Given the description of an element on the screen output the (x, y) to click on. 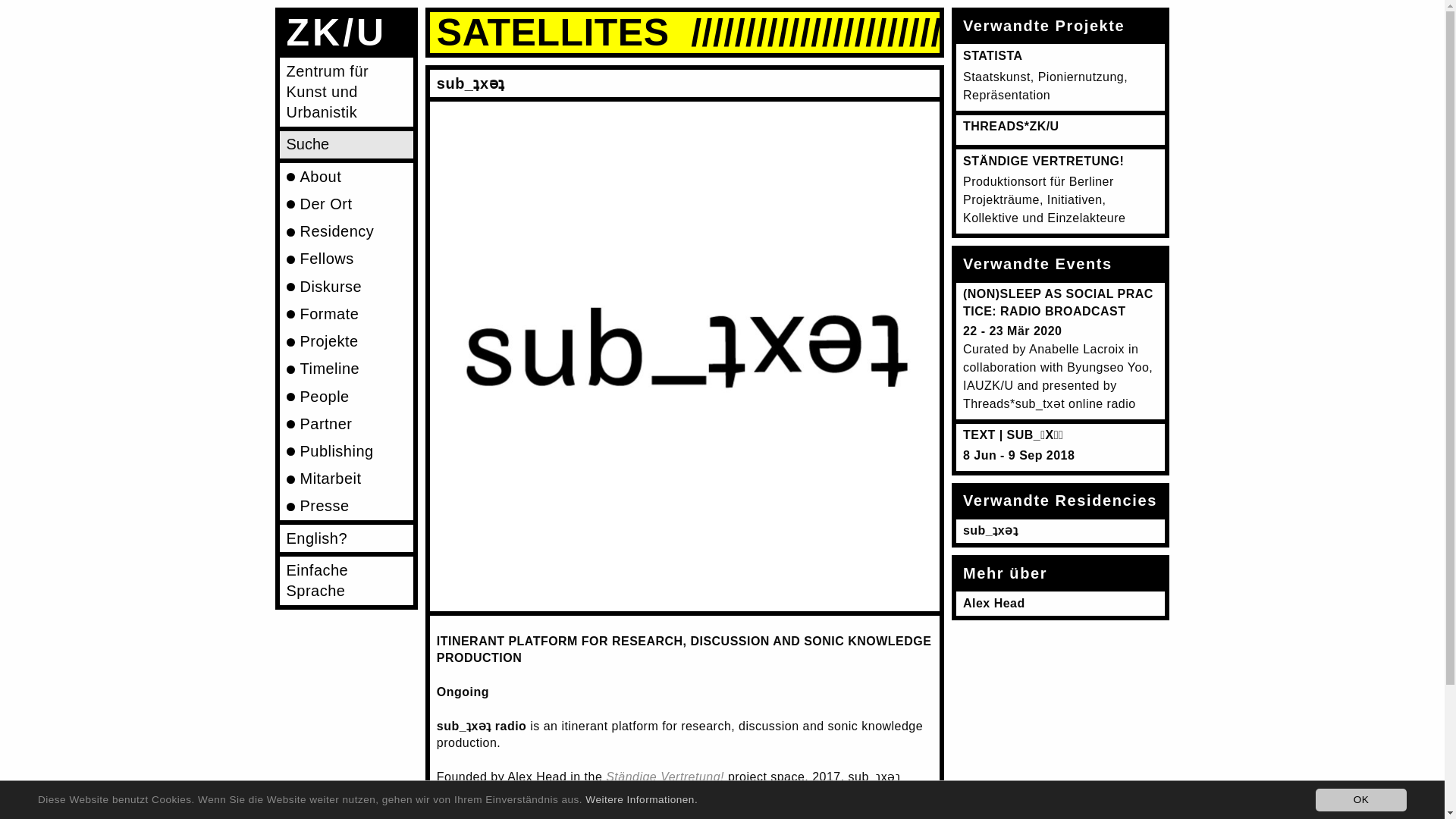
Der Ort (345, 203)
About (345, 176)
Presse (345, 506)
Partner (345, 423)
Timeline (345, 369)
Fellows (345, 258)
Formate (345, 313)
Residency (345, 231)
People (345, 396)
Publishing (345, 451)
English? (345, 538)
Diskurse (345, 286)
Mitarbeit (345, 479)
Einfache Sprache (345, 580)
Projekte (345, 341)
